Given the description of an element on the screen output the (x, y) to click on. 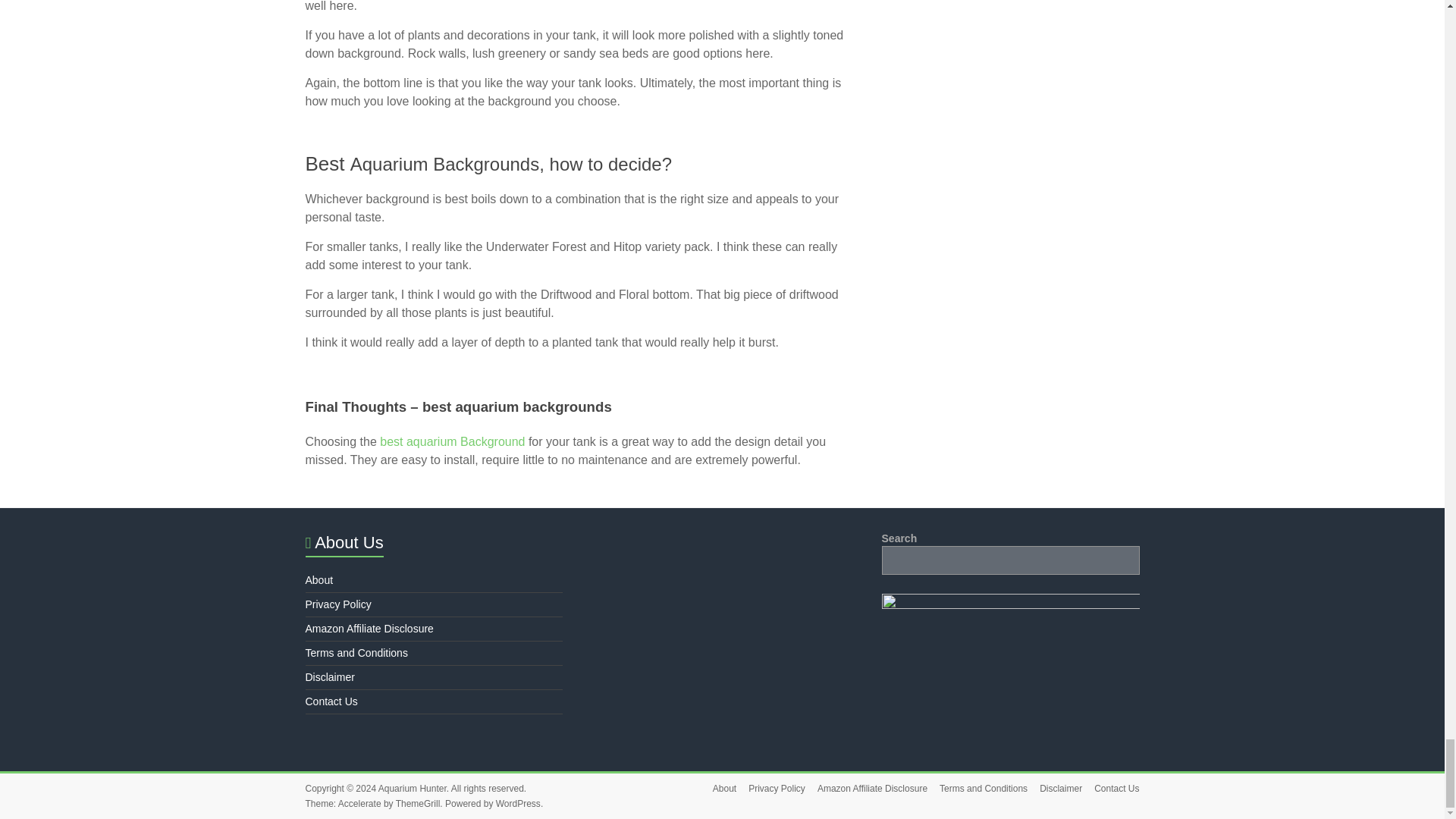
Accelerate (359, 803)
WordPress (518, 803)
Aquarium Hunter (412, 787)
